Given the description of an element on the screen output the (x, y) to click on. 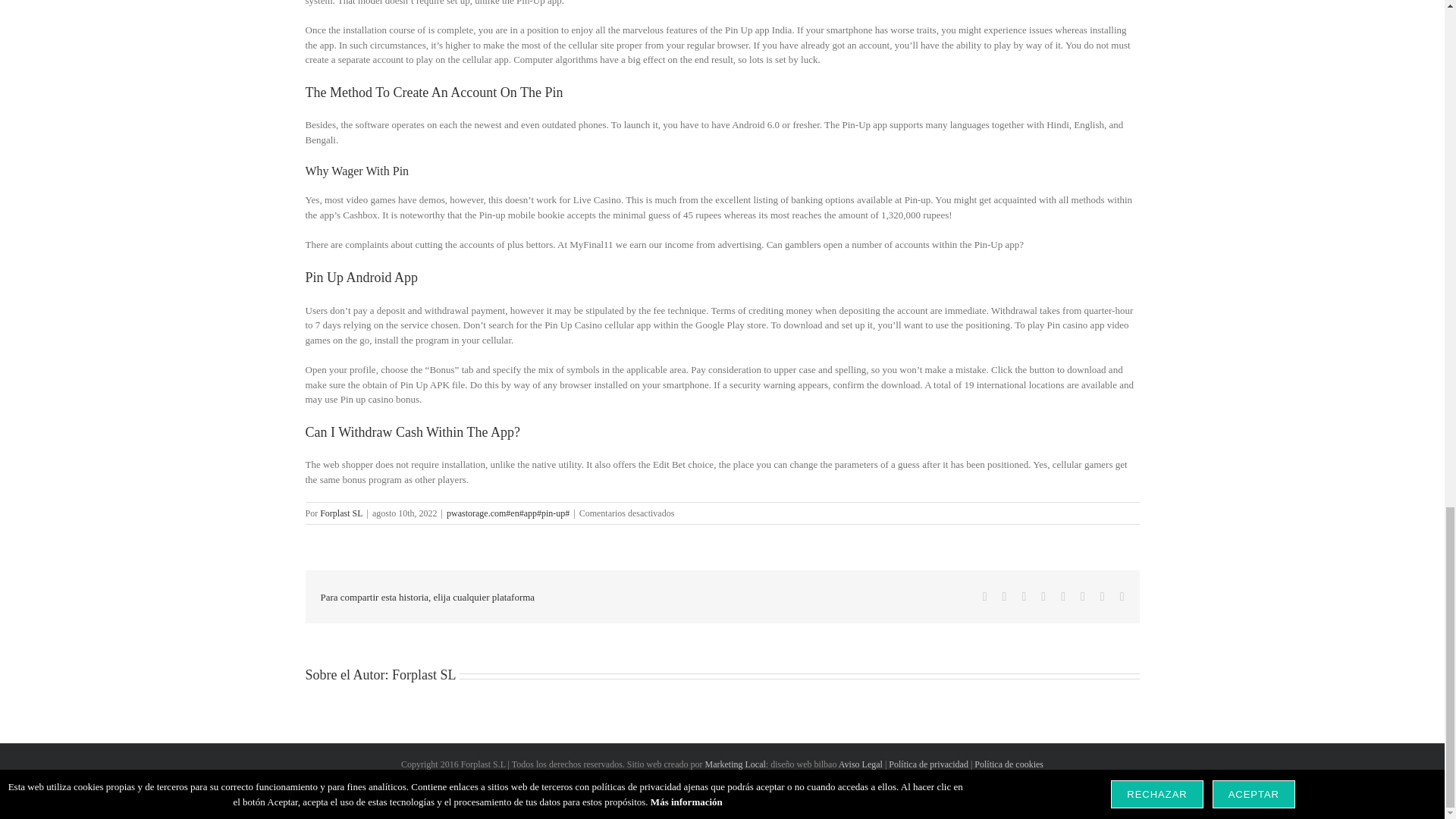
Aviso Legal (860, 764)
Forplast SL (341, 512)
Marketing Local (734, 764)
Entradas de Forplast SL (341, 512)
Entradas de Forplast SL (424, 674)
Forplast SL (424, 674)
